Given the description of an element on the screen output the (x, y) to click on. 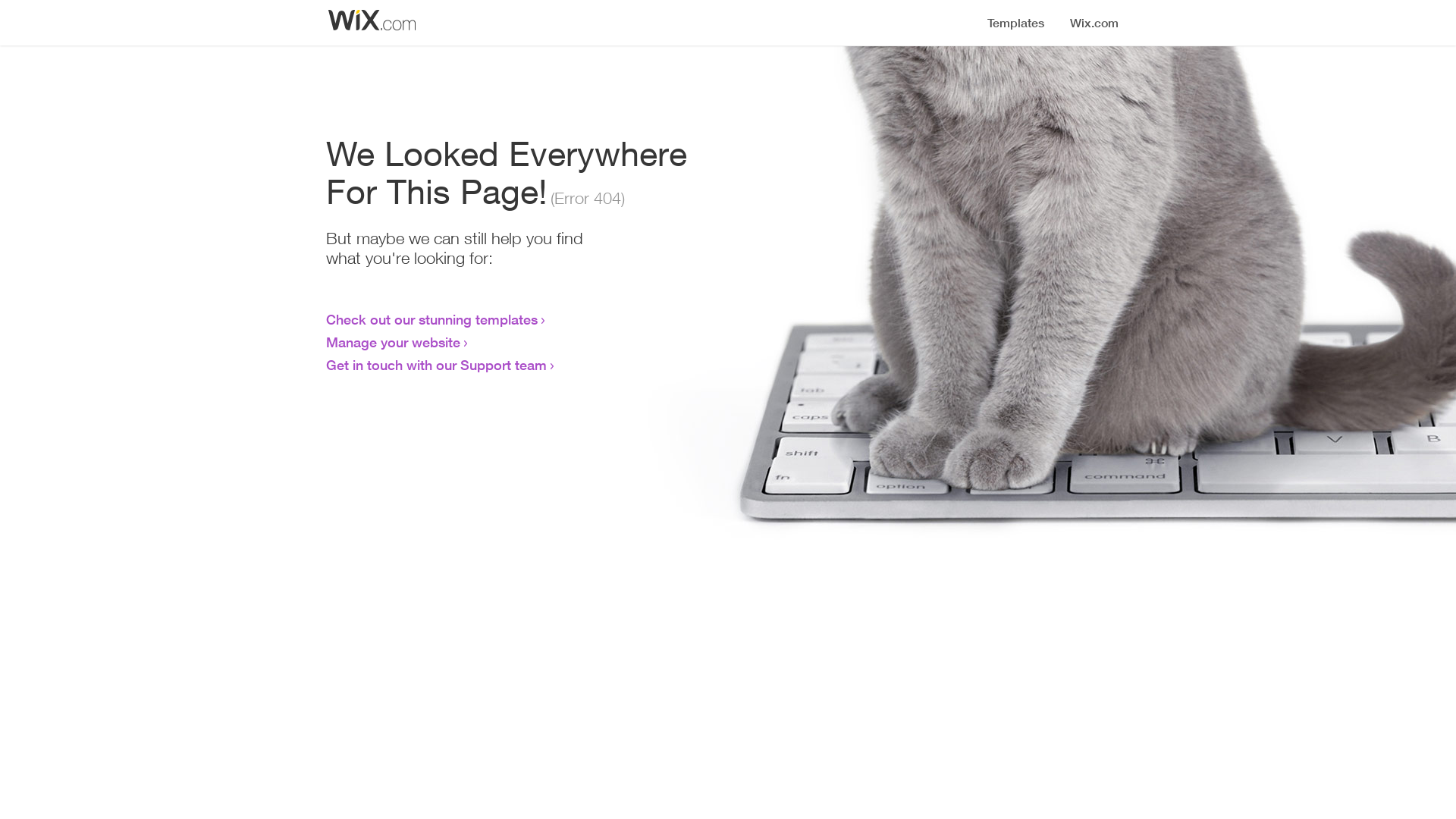
Check out our stunning templates Element type: text (431, 318)
Manage your website Element type: text (393, 341)
Get in touch with our Support team Element type: text (436, 364)
